Given the description of an element on the screen output the (x, y) to click on. 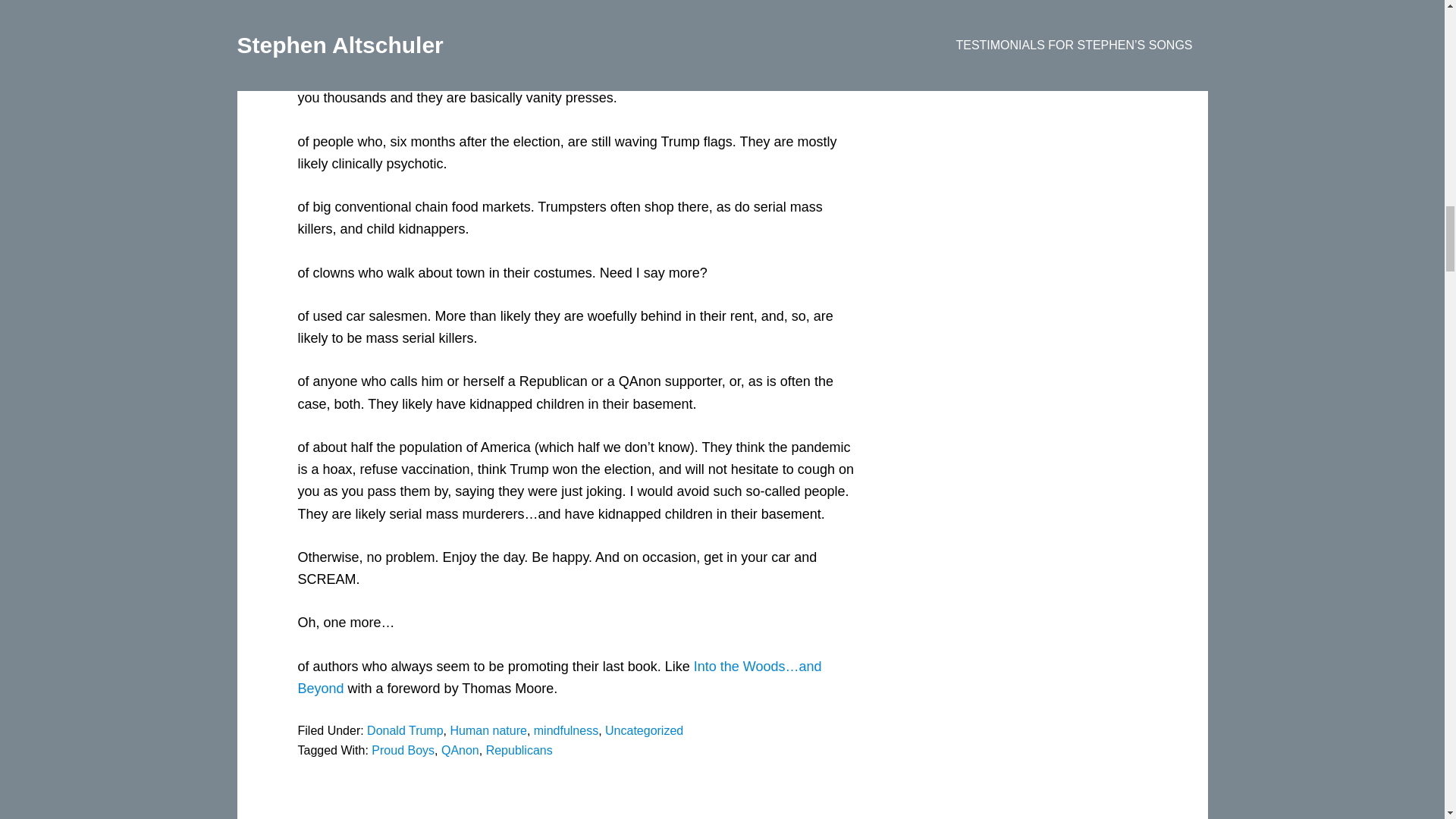
Uncategorized (643, 730)
Donald Trump (405, 730)
Republicans (519, 749)
Proud Boys (402, 749)
Human nature (487, 730)
QAnon (460, 749)
mindfulness (566, 730)
